Given the description of an element on the screen output the (x, y) to click on. 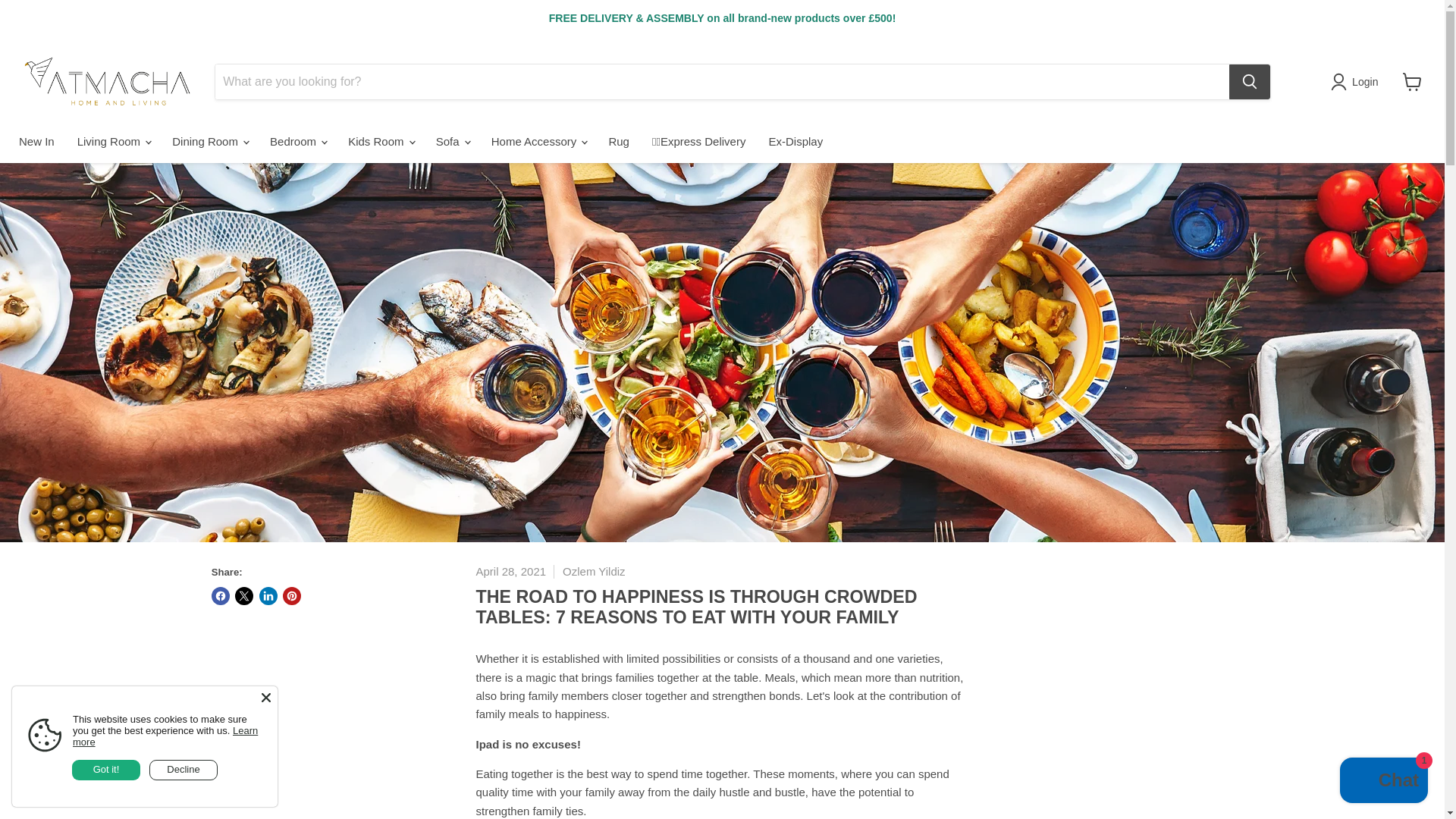
Login (1357, 81)
View cart (1411, 81)
New In (36, 141)
Shopify online store chat (1383, 781)
Learn more (164, 735)
